Given the description of an element on the screen output the (x, y) to click on. 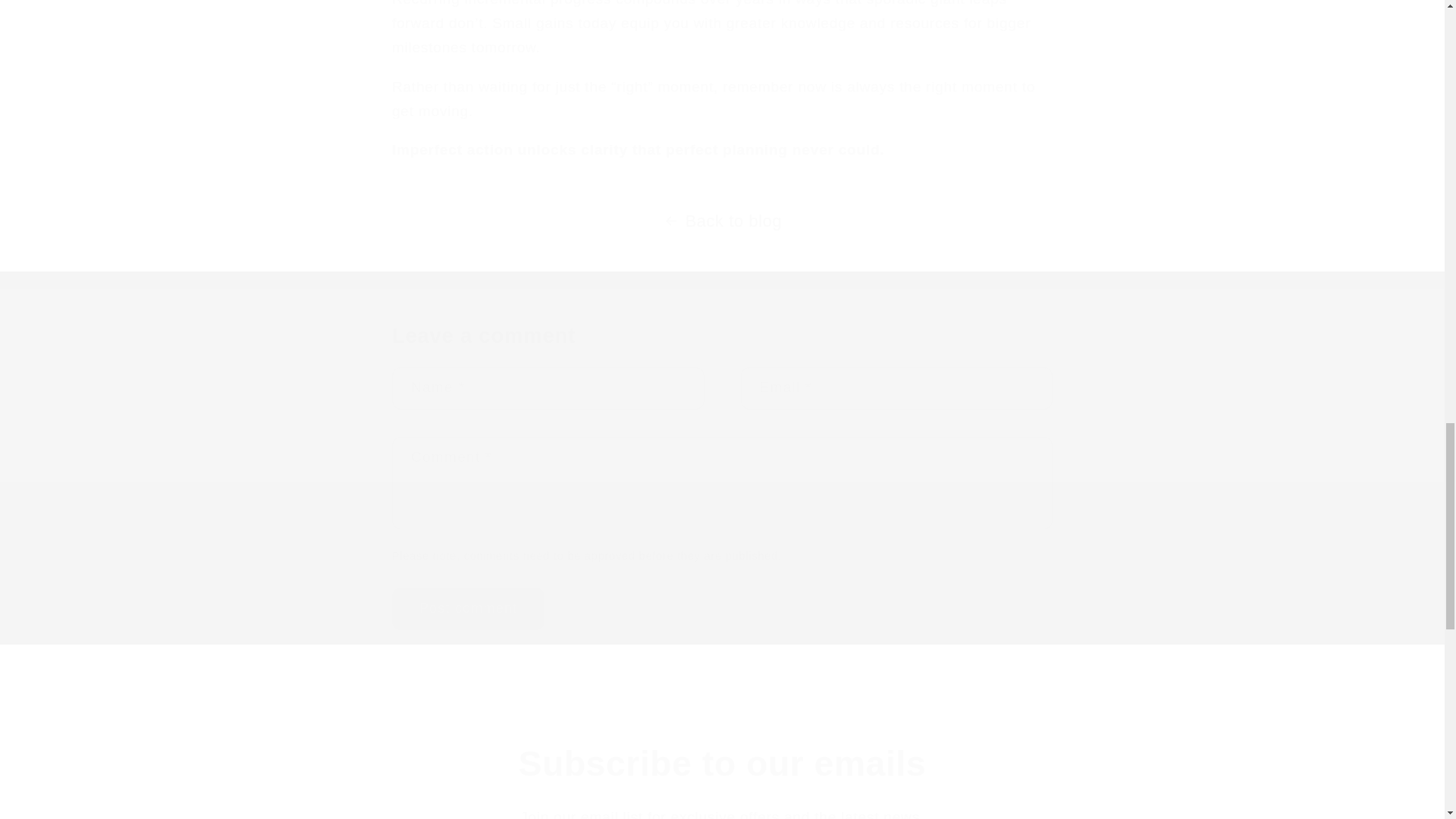
Post comment (467, 608)
Post comment (467, 608)
Subscribe to our emails (721, 764)
